Given the description of an element on the screen output the (x, y) to click on. 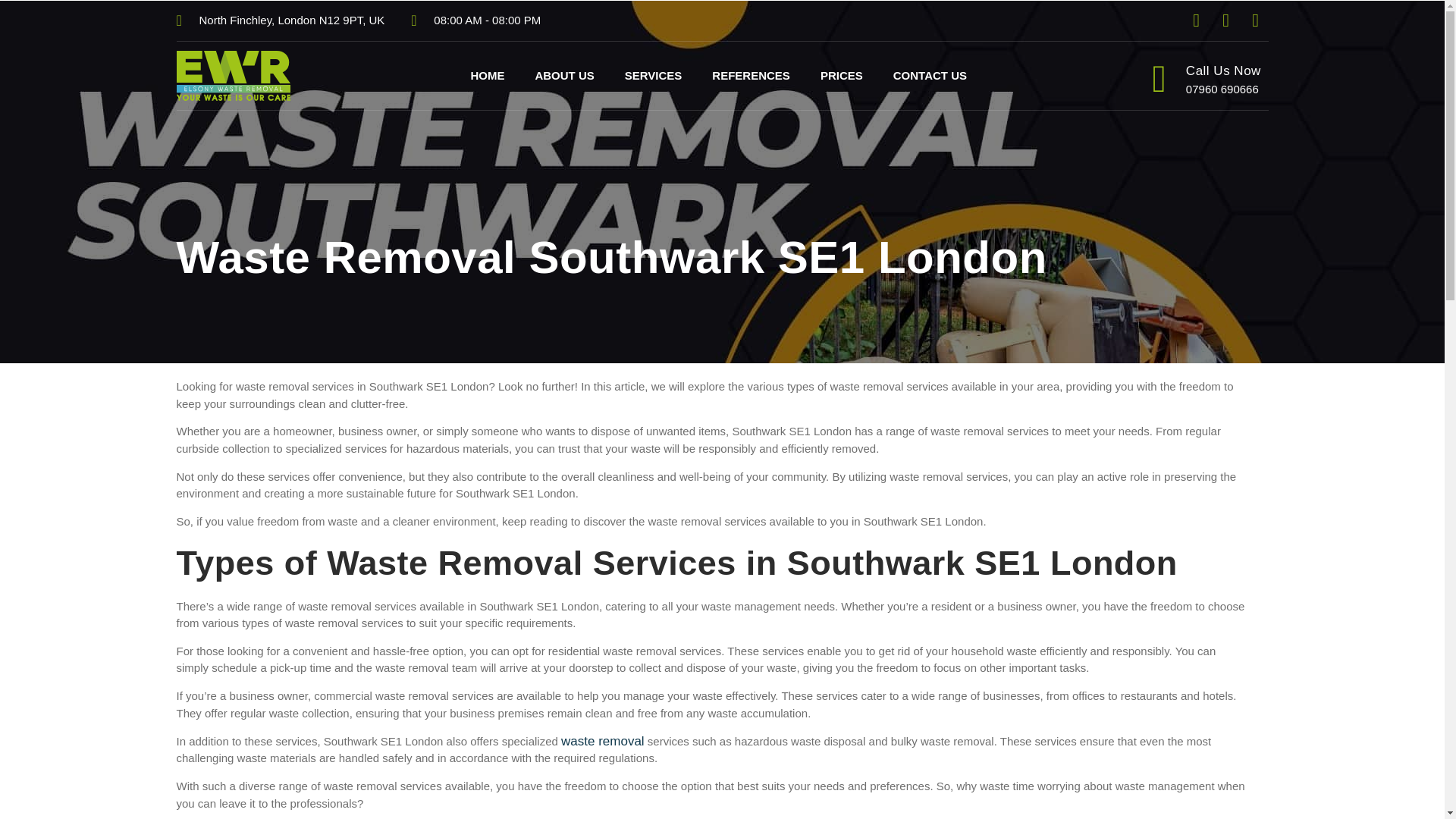
HOME (486, 75)
North Finchley, London N12 9PT, UK (280, 20)
Call Us Now (1223, 70)
waste removal (602, 740)
SERVICES (653, 75)
CONTACT US (929, 75)
waste removal (602, 740)
REFERENCES (751, 75)
ABOUT US (563, 75)
PRICES (841, 75)
